Given the description of an element on the screen output the (x, y) to click on. 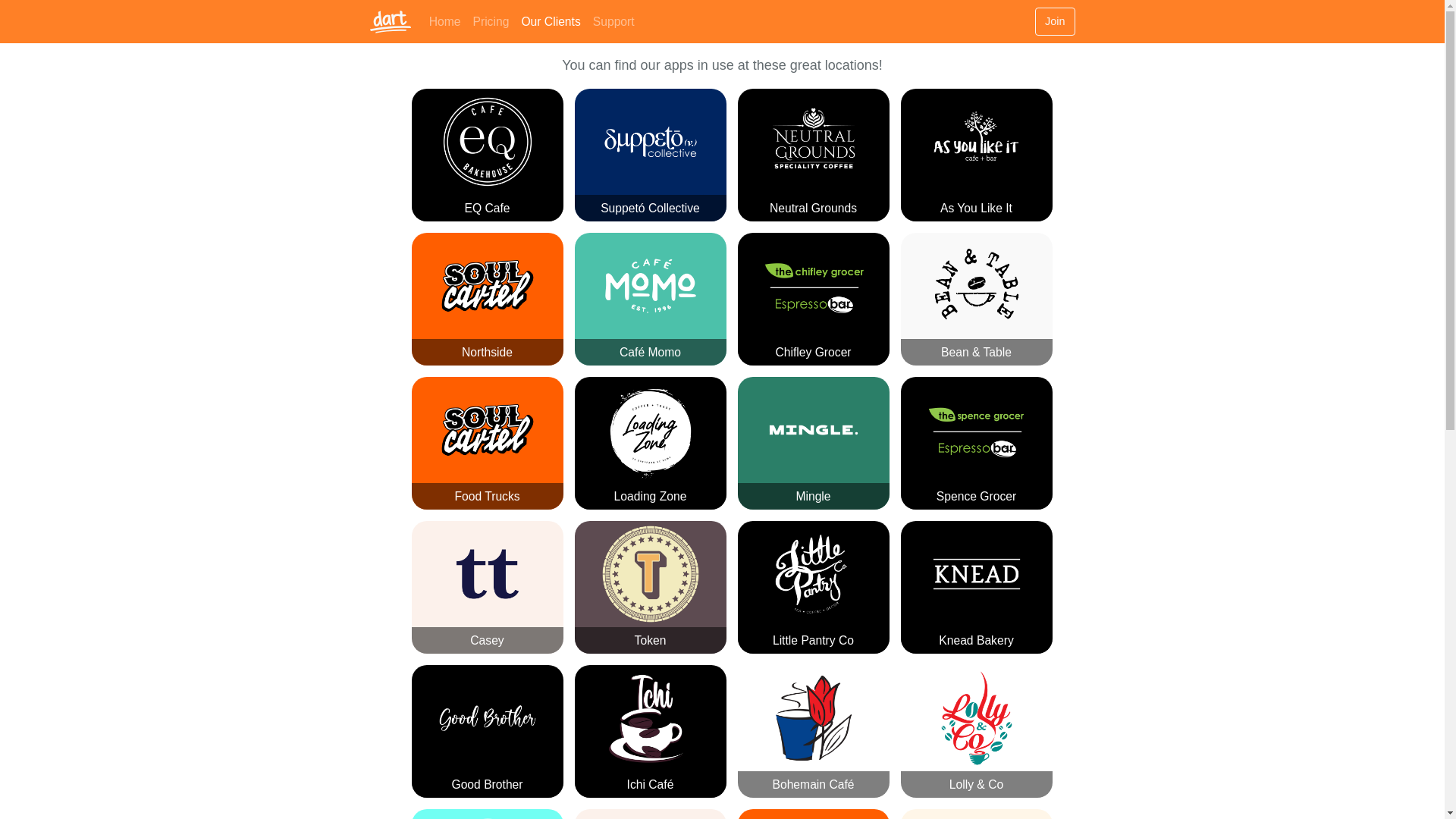
EQ Cafe Element type: text (486, 154)
Casey Element type: text (486, 586)
Token Element type: text (650, 586)
Home Element type: text (445, 21)
Chifley Grocer Element type: text (812, 298)
Food Trucks Element type: text (486, 442)
Bean & Table Element type: text (976, 298)
As You Like It Element type: text (976, 154)
Our Clients
(current) Element type: text (550, 21)
Join Element type: text (1054, 21)
Loading Zone Element type: text (650, 442)
Good Brother Element type: text (486, 731)
Knead Bakery Element type: text (976, 586)
Mingle Element type: text (812, 442)
Support Element type: text (613, 21)
Spence Grocer Element type: text (976, 442)
Northside Element type: text (486, 298)
Neutral Grounds Element type: text (812, 154)
Little Pantry Co Element type: text (812, 586)
Pricing Element type: text (490, 21)
Lolly & Co Element type: text (976, 731)
